Given the description of an element on the screen output the (x, y) to click on. 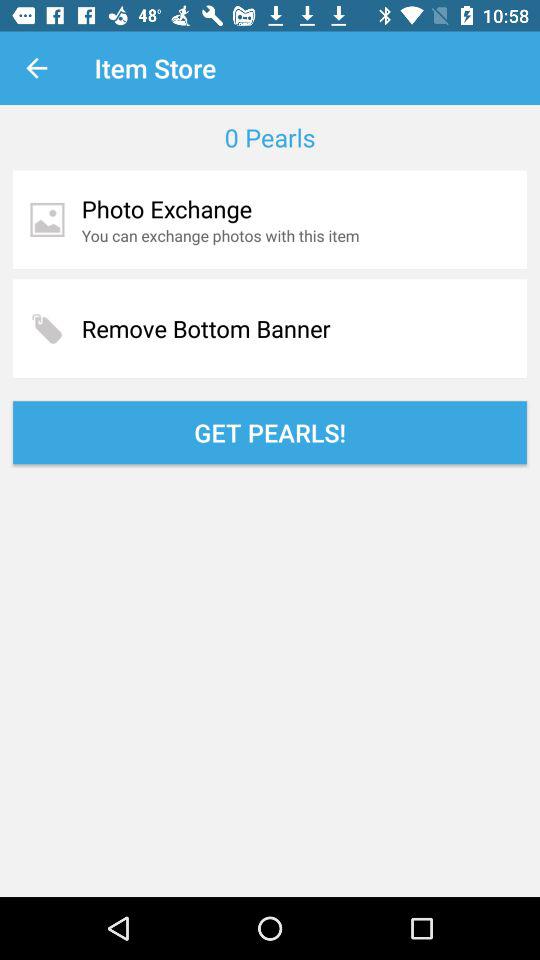
tap the item above the 0 pearls icon (36, 68)
